Given the description of an element on the screen output the (x, y) to click on. 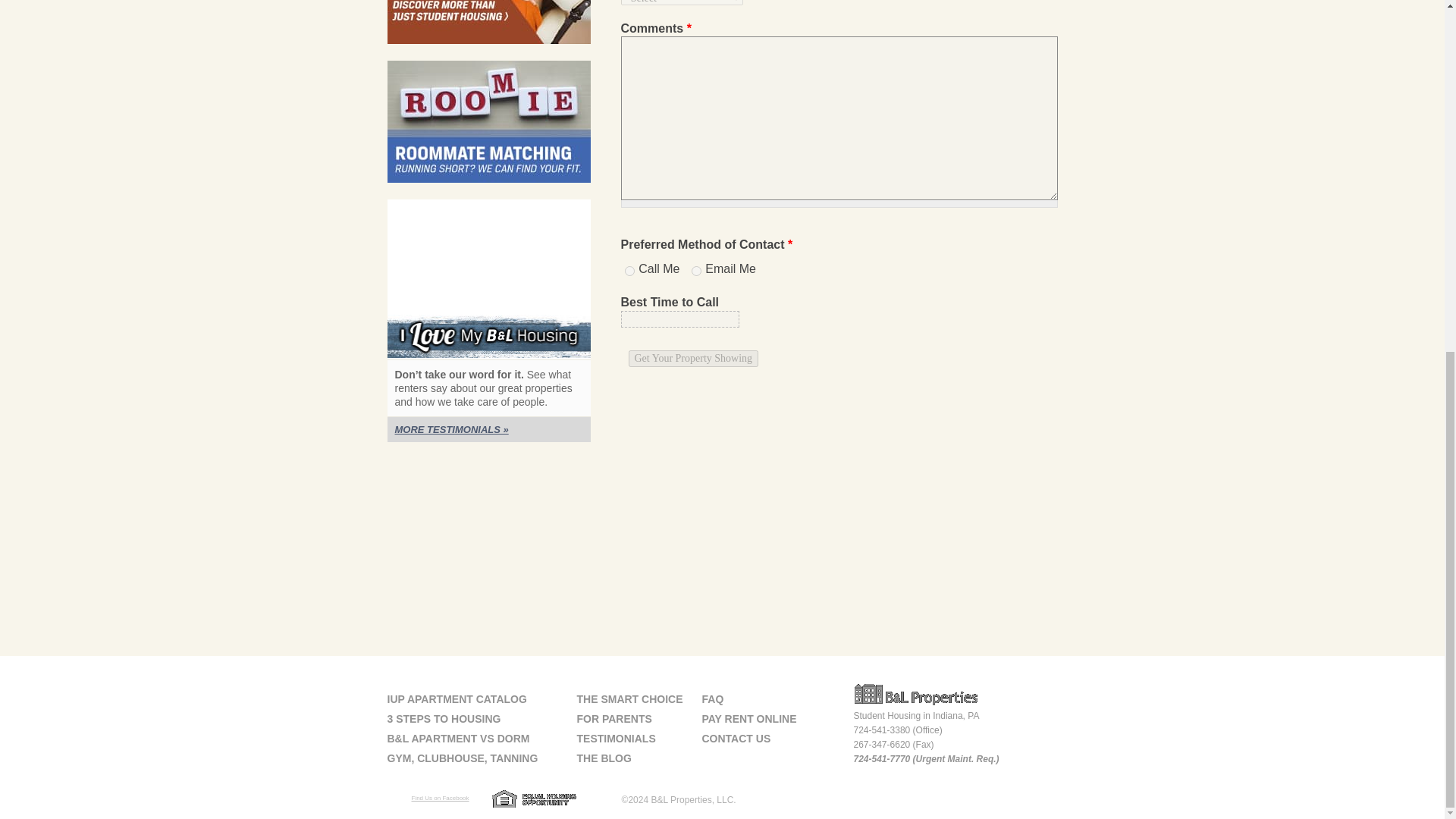
Get Your Property Showing (692, 358)
Equal Housing (534, 801)
Roommate Matching - Running Short? We can find your fit. (488, 121)
Get Your Property Showing (692, 358)
